Given the description of an element on the screen output the (x, y) to click on. 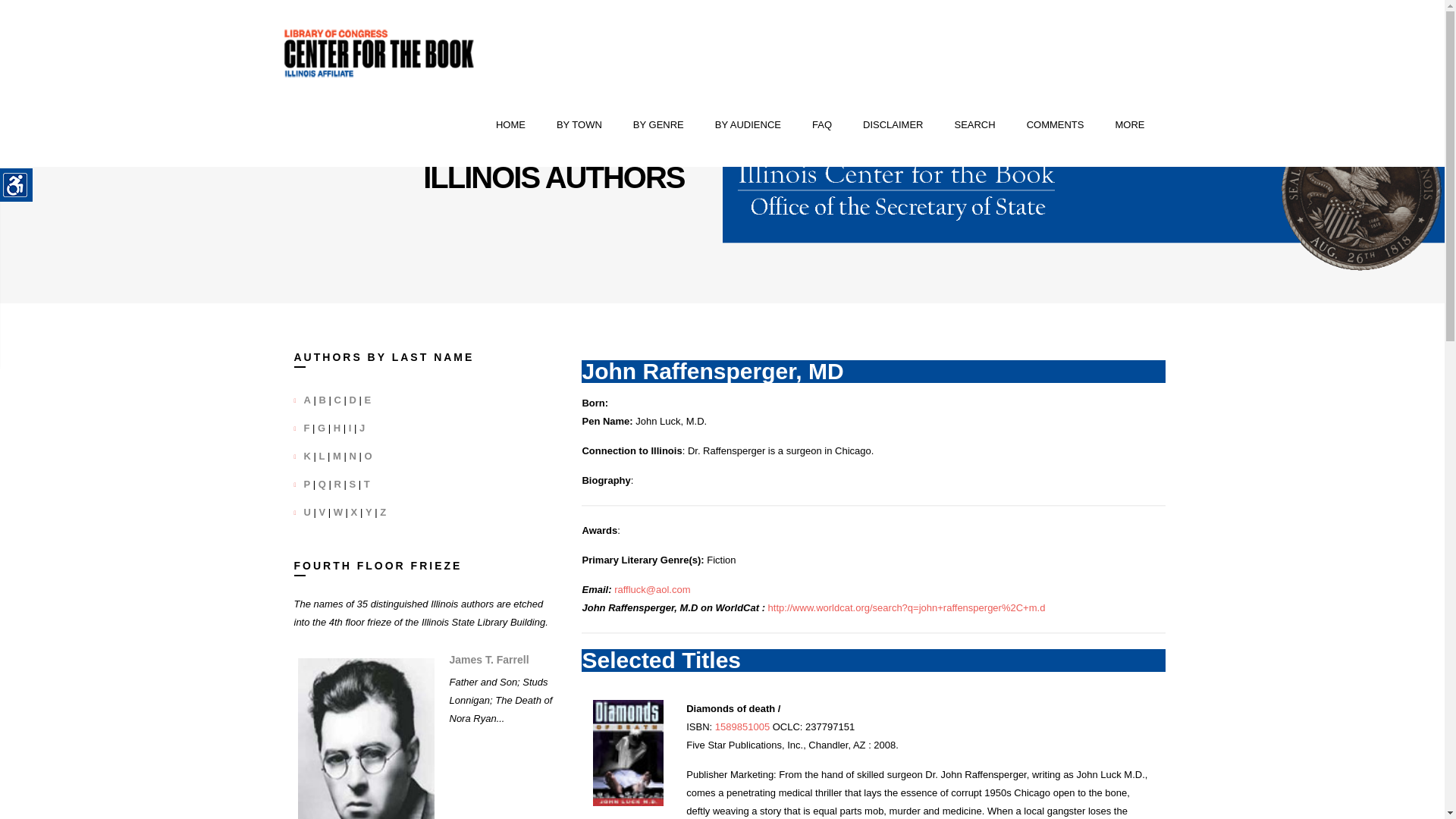
BY AUDIENCE (747, 125)
A disclaimer from the Illinois Secretary of State (893, 125)
DISCLAIMER (893, 125)
Link to the Library of Congress's Center for the Book (379, 52)
COMMENTS (1055, 125)
Illinois authors, arranged by audience (747, 125)
